Given the description of an element on the screen output the (x, y) to click on. 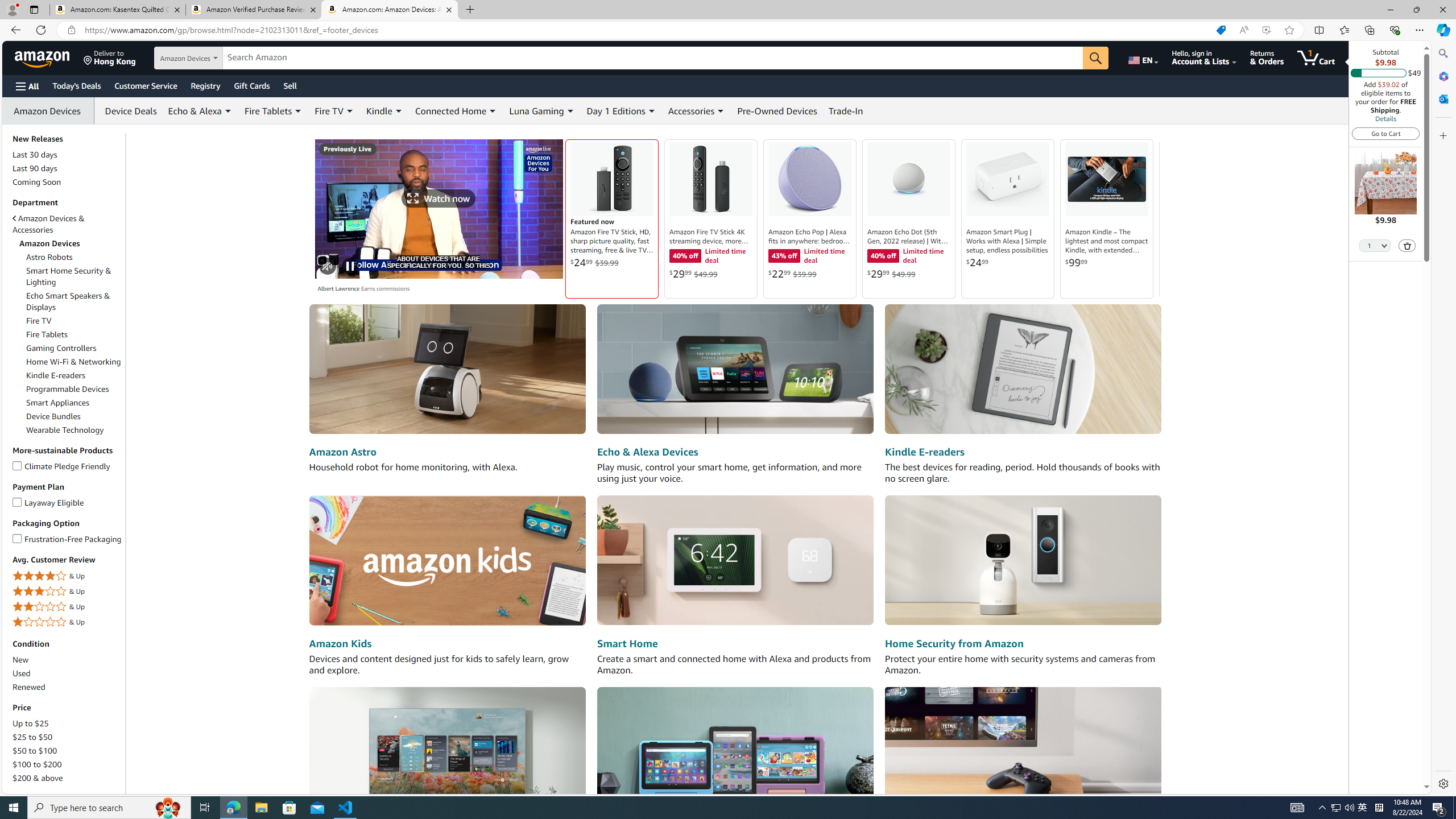
New (67, 659)
Details (1385, 118)
Up to $25 (67, 722)
Expand Day 1 Editions (651, 111)
Customer Service (145, 85)
$200 & above (67, 777)
Amazon Kids (339, 643)
Search in (210, 58)
Fire TV devices (447, 751)
New (21, 659)
